Given the description of an element on the screen output the (x, y) to click on. 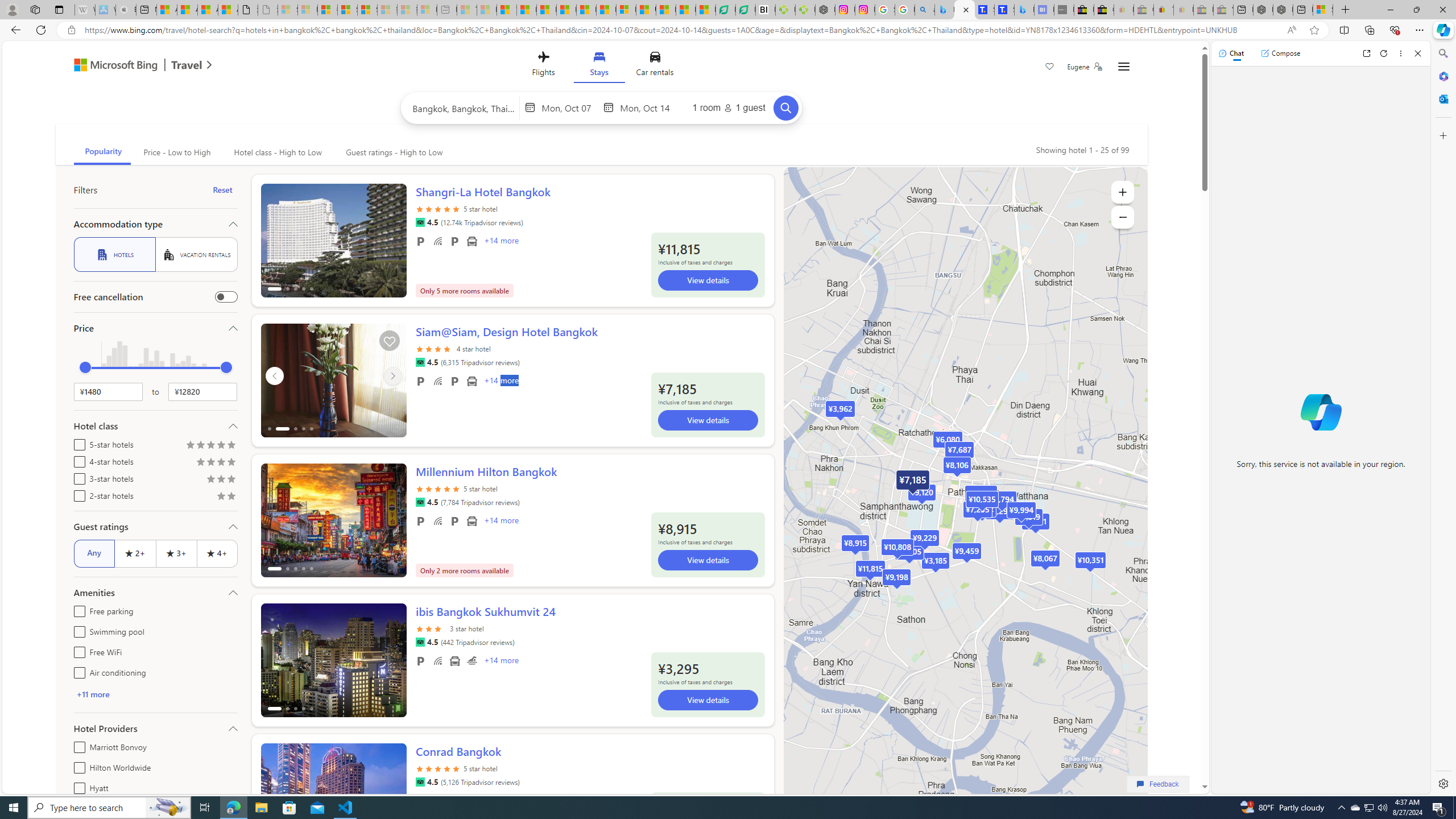
HOTELS (113, 254)
Zoom out (1122, 216)
Swimming pool (76, 629)
Price - Low to High (176, 152)
Descarga Driver Updater (804, 9)
Reset (222, 189)
Free parking (76, 609)
Hotel class (154, 425)
4+ (216, 553)
